Given the description of an element on the screen output the (x, y) to click on. 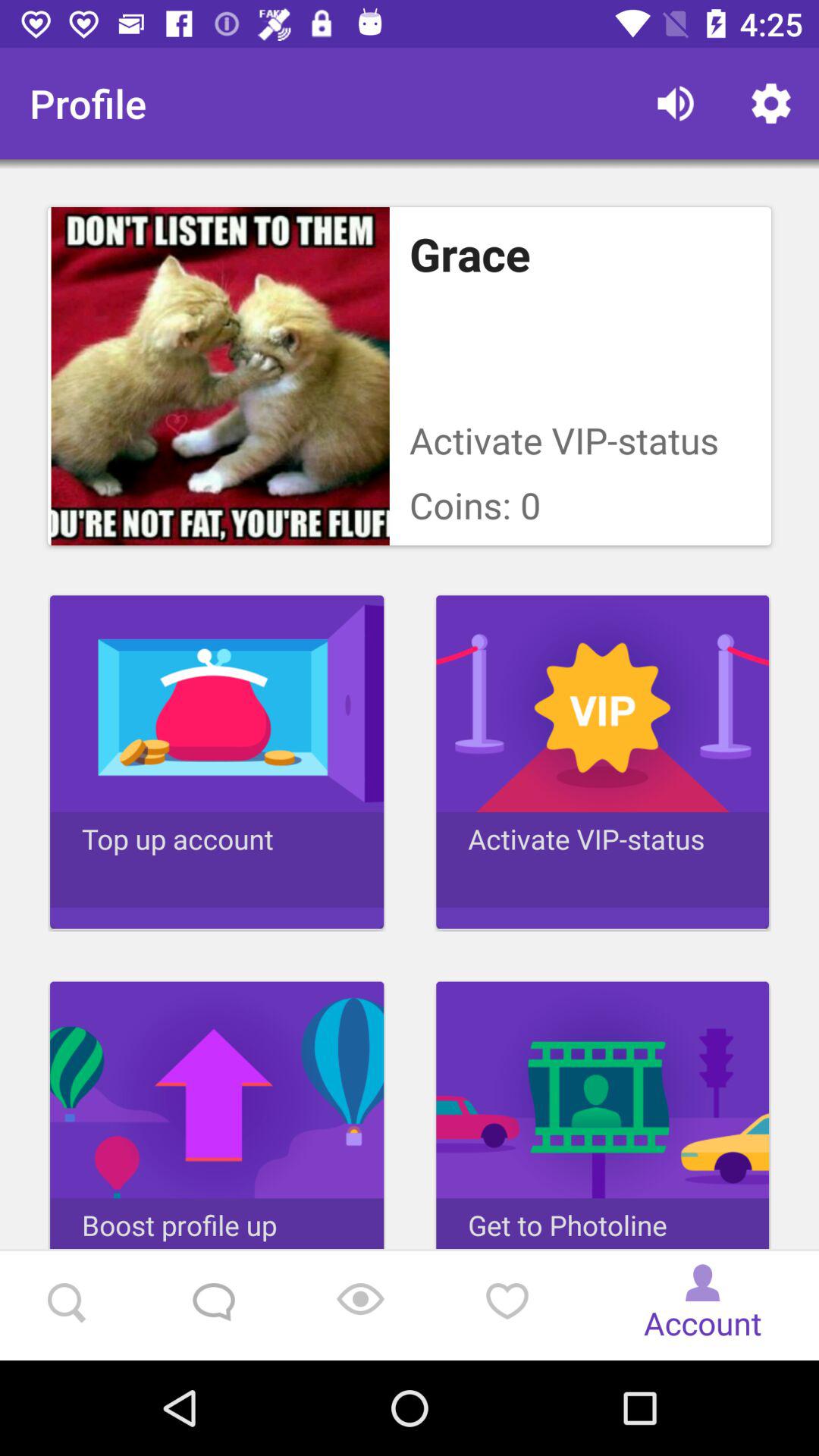
click the item to the right of the profile (675, 103)
